Given the description of an element on the screen output the (x, y) to click on. 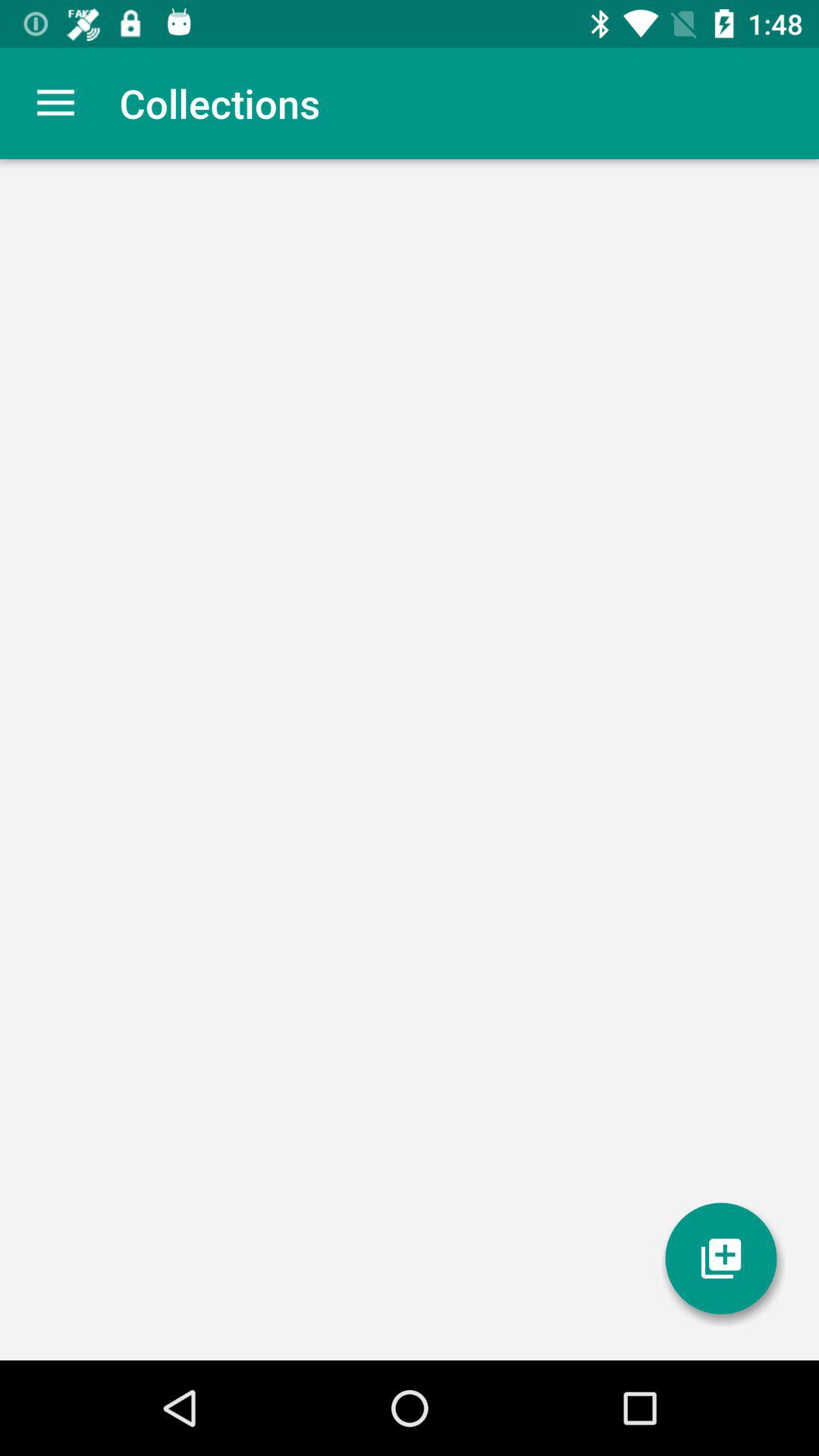
tap icon next to collections app (55, 103)
